Given the description of an element on the screen output the (x, y) to click on. 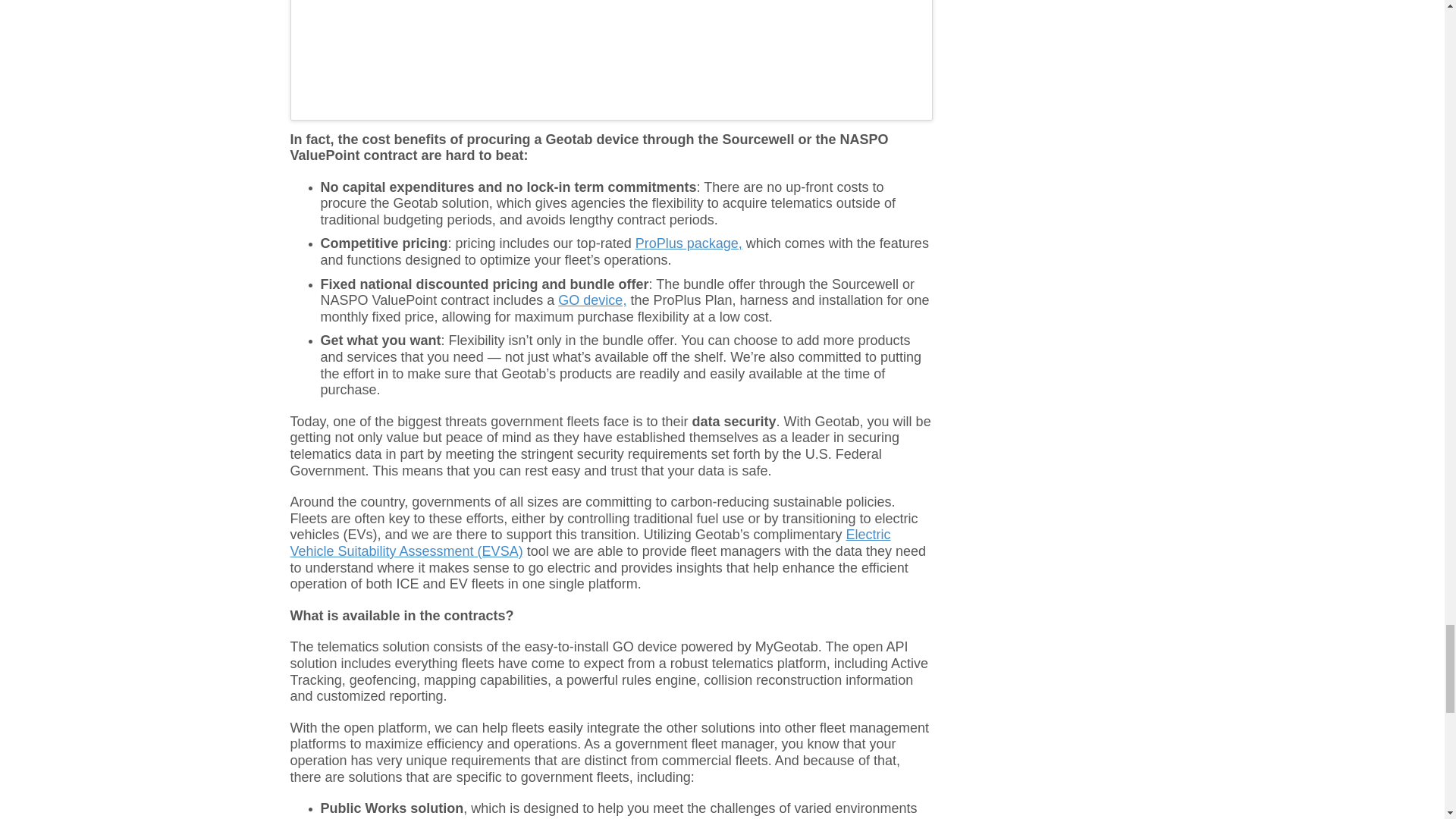
The Sourcewell Advantage (611, 58)
